Given the description of an element on the screen output the (x, y) to click on. 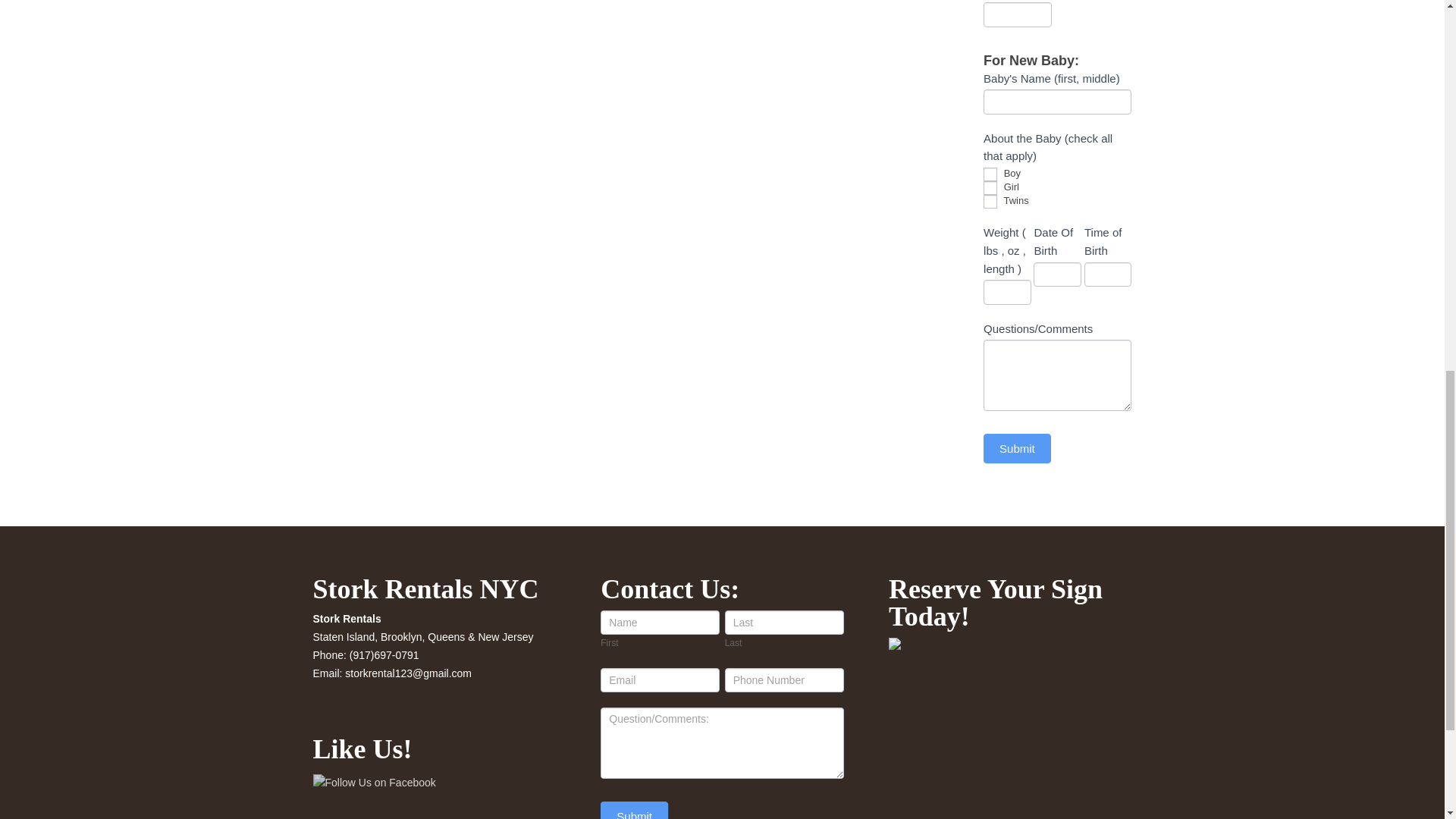
Submit (1017, 448)
Submit (633, 810)
Boy (990, 173)
Girl (990, 187)
Follow Us on Facebook (374, 782)
Submit (1017, 448)
Twins (990, 201)
